Given the description of an element on the screen output the (x, y) to click on. 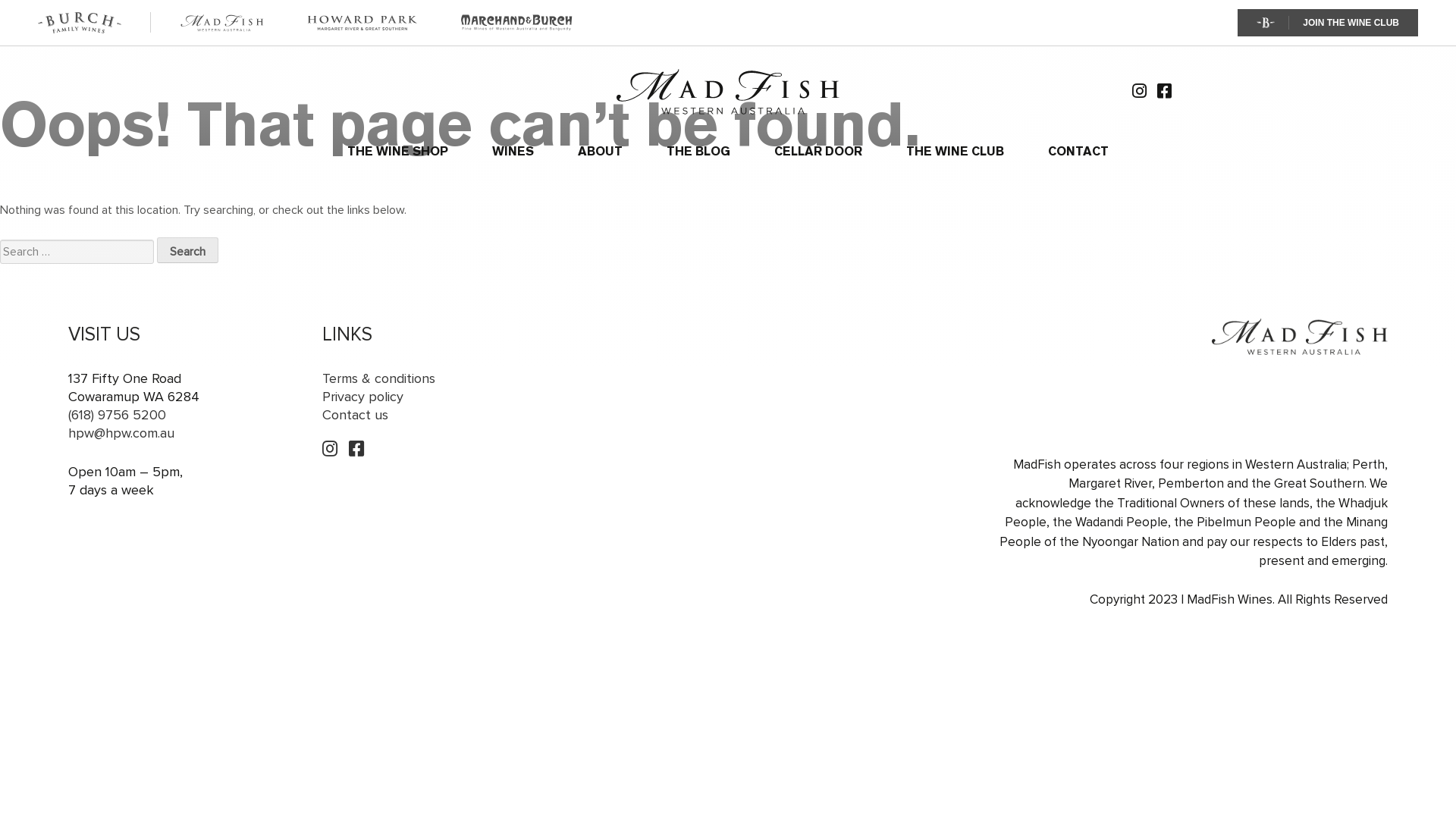
ABOUT Element type: text (599, 151)
Terms & conditions Element type: text (378, 378)
THE BLOG Element type: text (698, 151)
Search Element type: text (187, 250)
THE WINE SHOP Element type: text (397, 151)
CONTACT Element type: text (1078, 151)
THE WINE CLUB Element type: text (955, 151)
WINES Element type: text (512, 151)
(618) 9756 5200 Element type: text (117, 414)
Privacy policy Element type: text (362, 396)
Contact us Element type: text (355, 414)
hpw@hpw.com.au Element type: text (121, 432)
CELLAR DOOR Element type: text (818, 151)
